Given the description of an element on the screen output the (x, y) to click on. 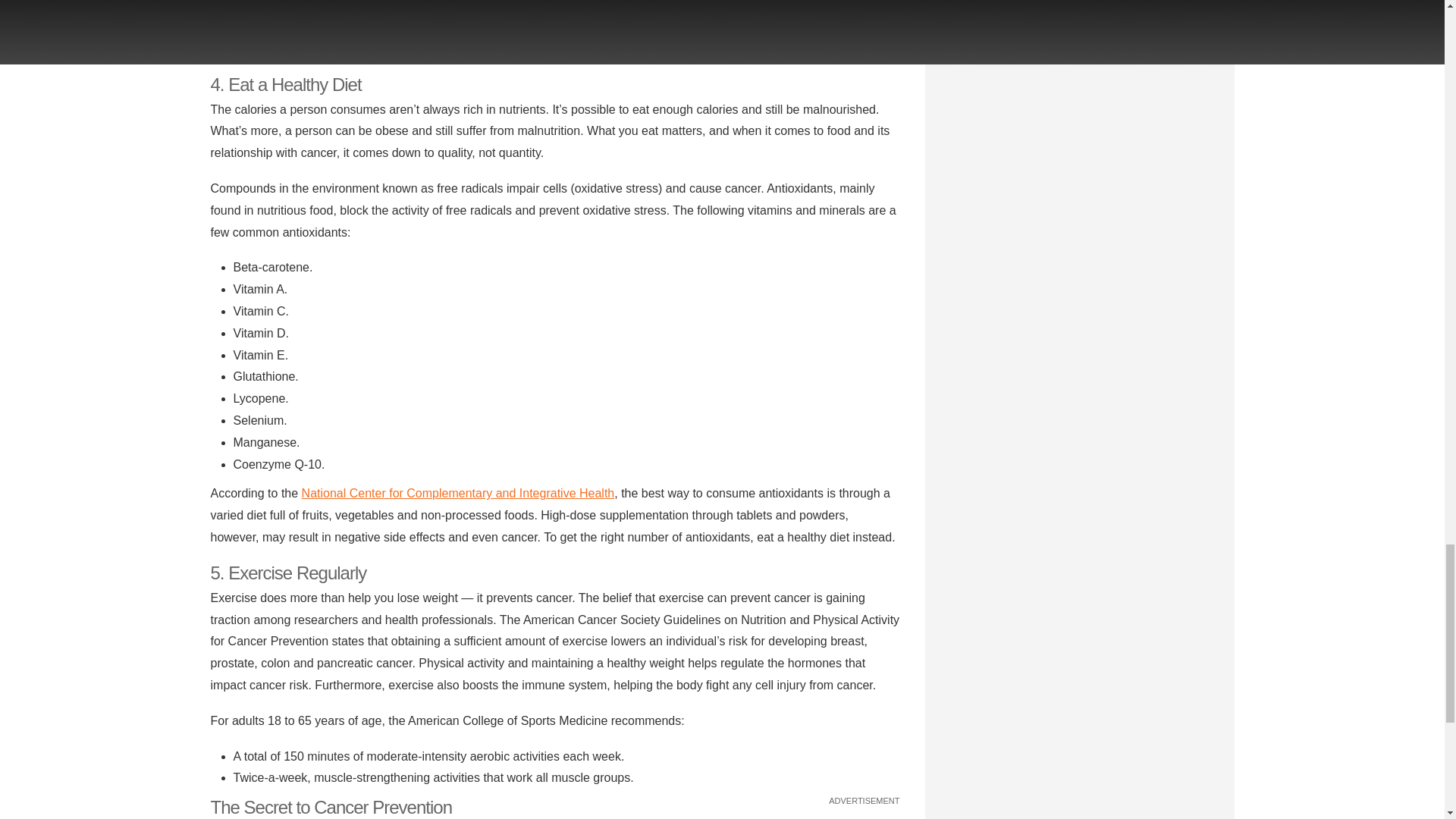
Quit Smoking (268, 54)
National Center for Complementary and Integrative Health (457, 492)
Healthy Weight (273, 32)
Vitamin E (258, 10)
